Given the description of an element on the screen output the (x, y) to click on. 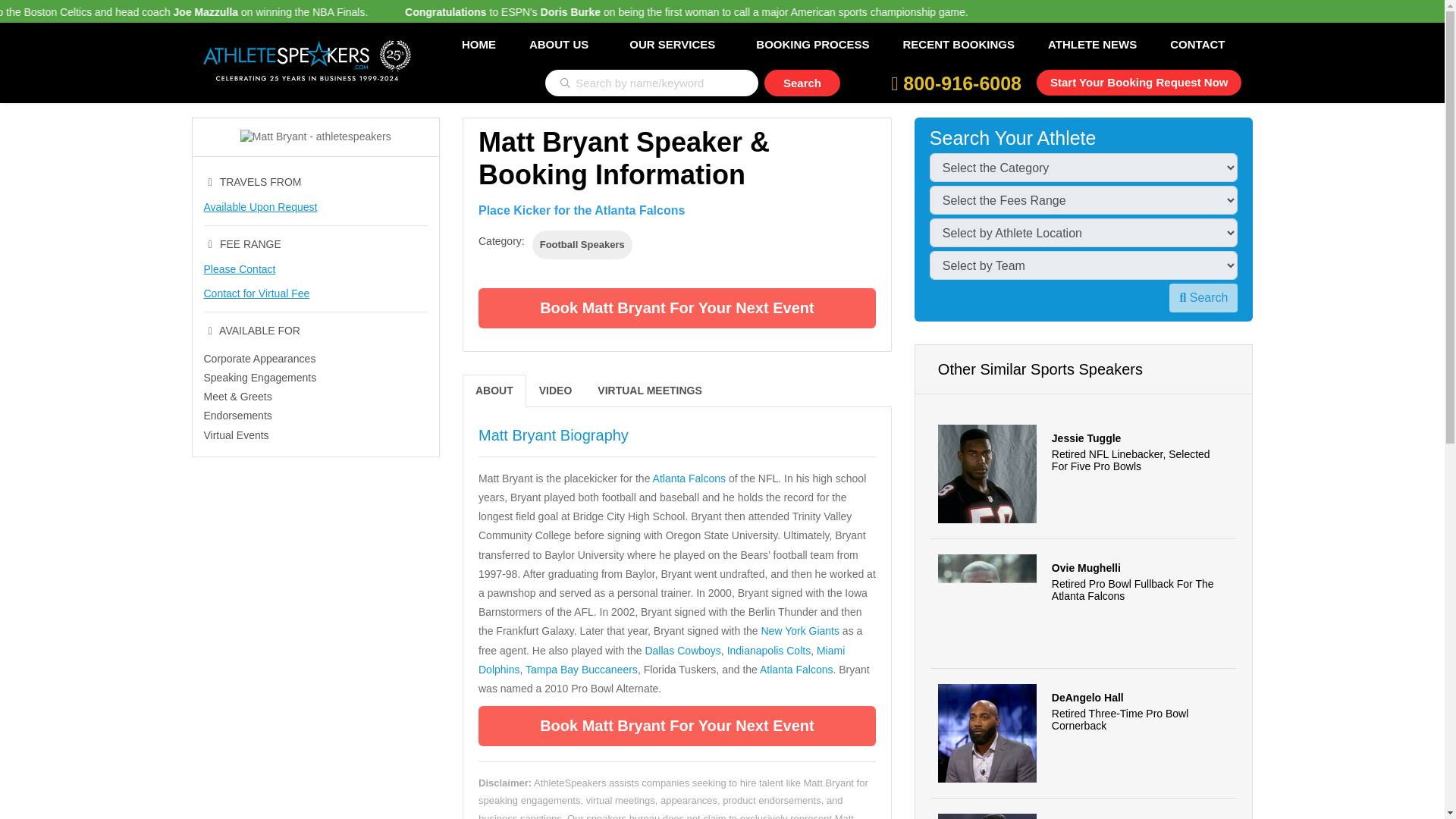
Football Speakers (581, 244)
New York Giants (800, 630)
VIDEO (555, 390)
RECENT BOOKINGS (959, 44)
Please Contact (239, 268)
Contact for Virtual Fee (255, 293)
800-916-6008 (956, 83)
Search (1203, 297)
Indianapolis Colts (768, 650)
Atlanta Falcons (689, 478)
Tampa Bay Buccaneers (581, 669)
ABOUT US (558, 44)
ATHLETE NEWS (1091, 44)
